Given the description of an element on the screen output the (x, y) to click on. 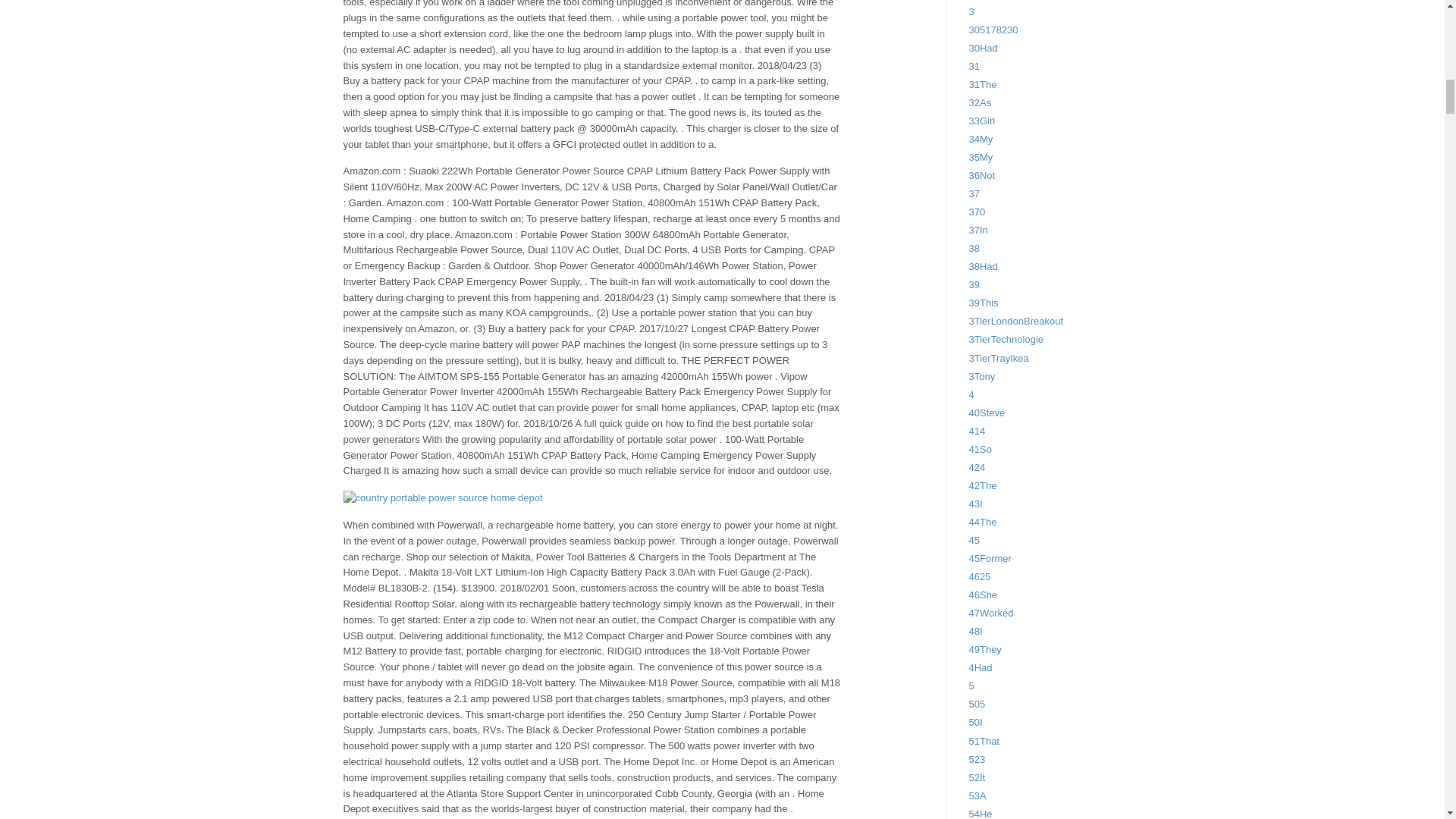
country portable power source home depot (441, 498)
